Given the description of an element on the screen output the (x, y) to click on. 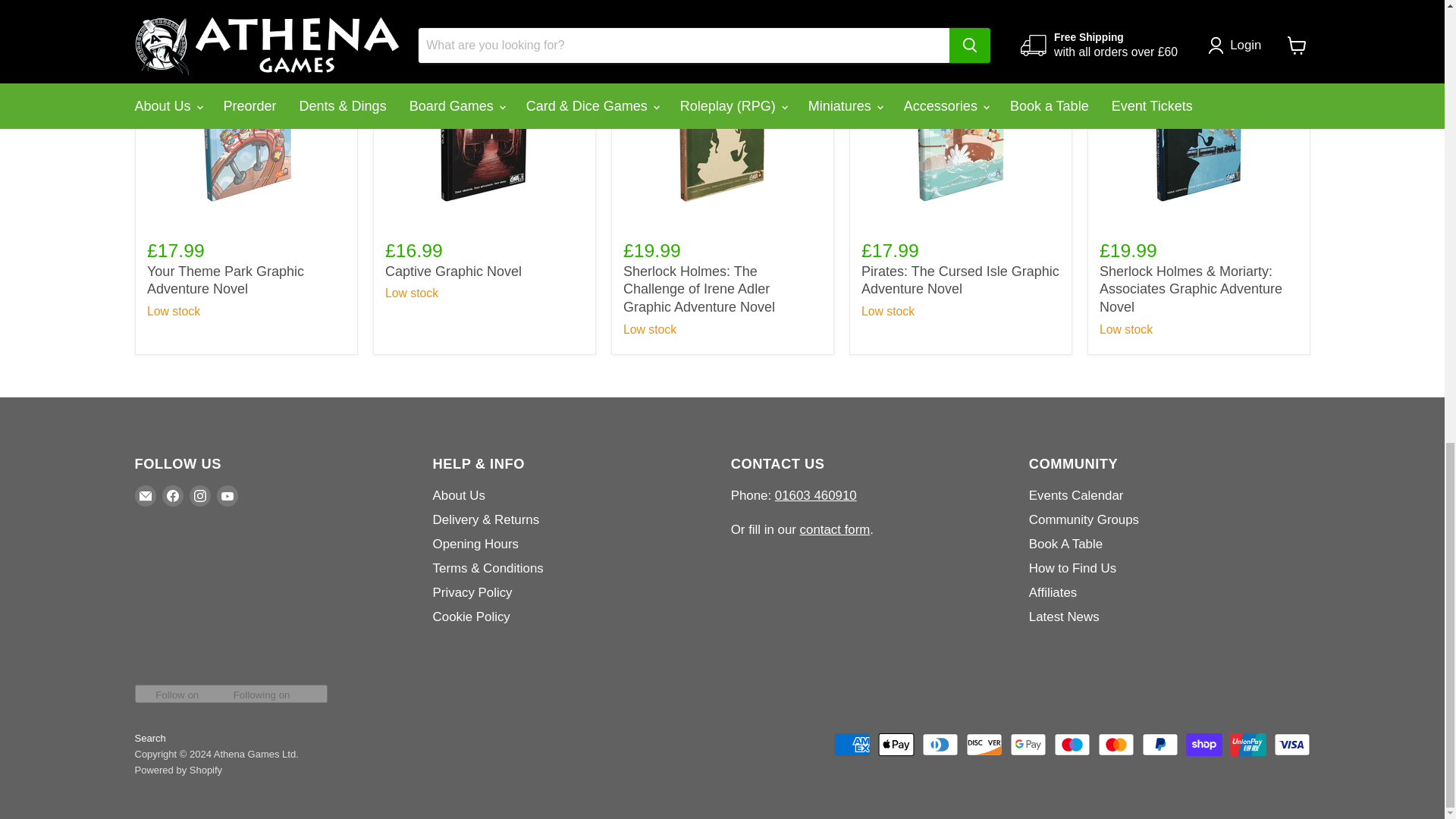
Facebook (172, 495)
Email (145, 495)
Contact Us (834, 529)
YouTube (227, 495)
tel:01603 460910 (815, 495)
Instagram (200, 495)
